Given the description of an element on the screen output the (x, y) to click on. 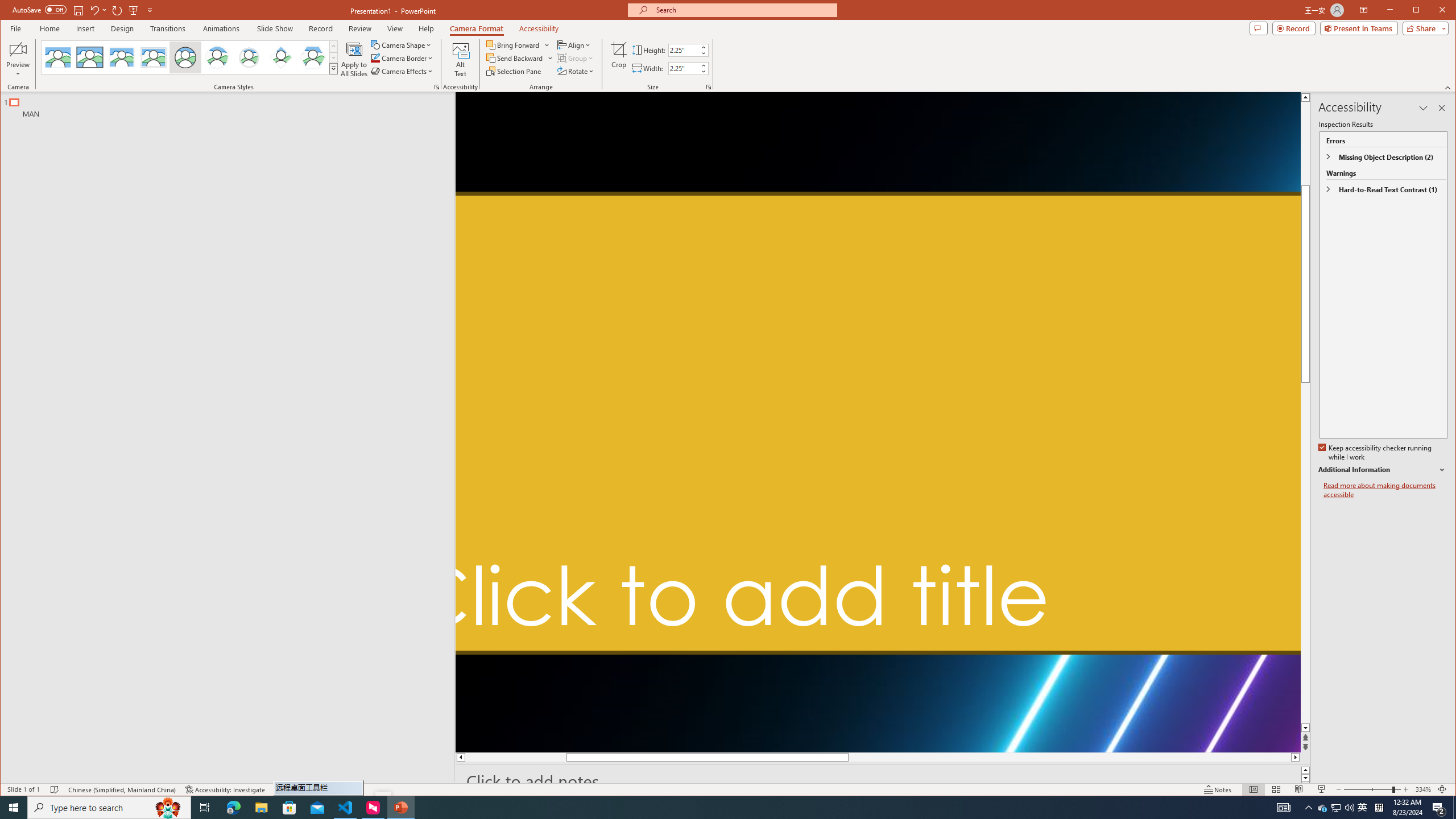
Cameo Height (683, 50)
Camera Styles (333, 68)
Bring Forward (517, 44)
